Given the description of an element on the screen output the (x, y) to click on. 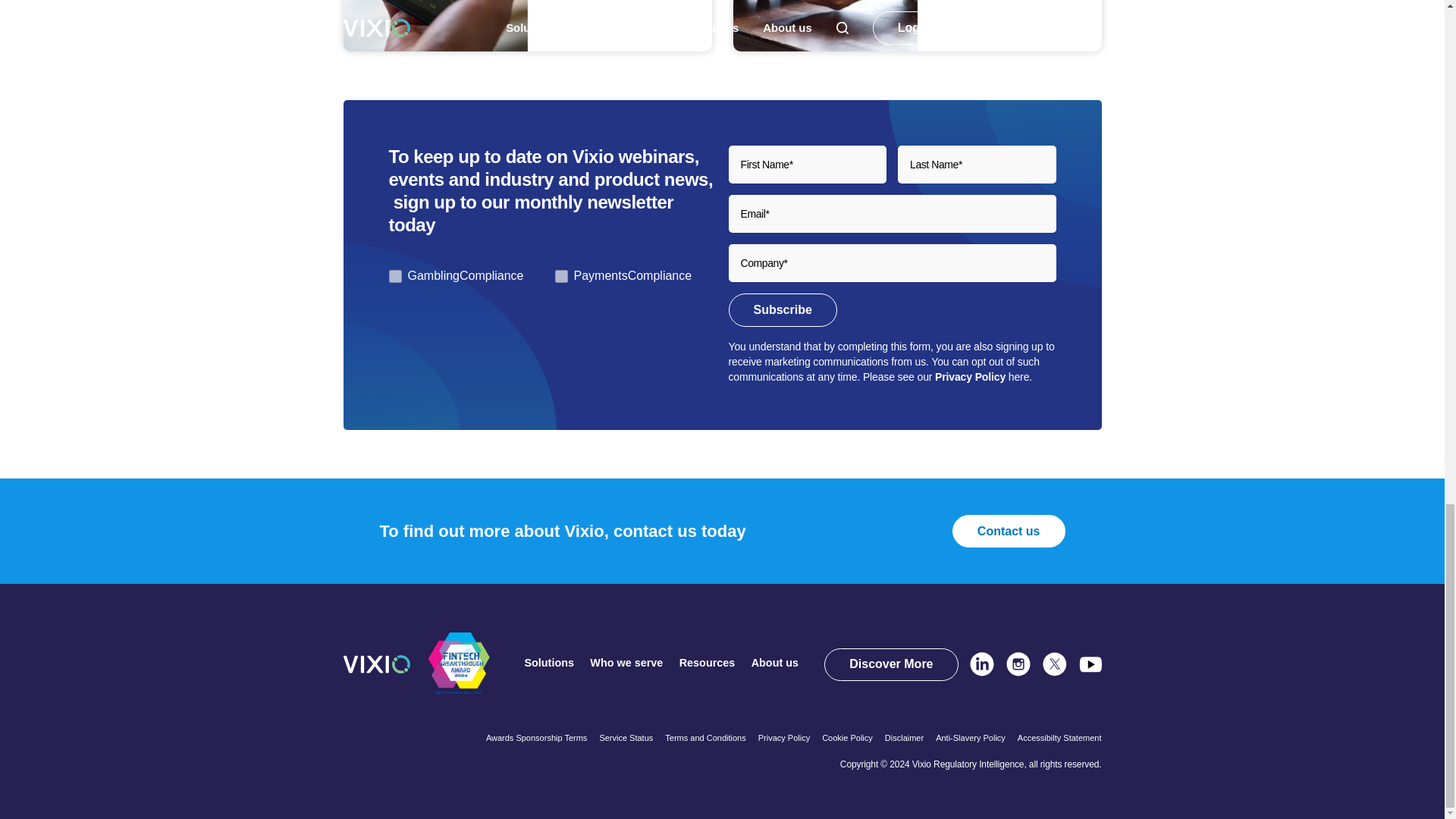
on (394, 276)
Subscribe (781, 309)
on (560, 276)
